Given the description of an element on the screen output the (x, y) to click on. 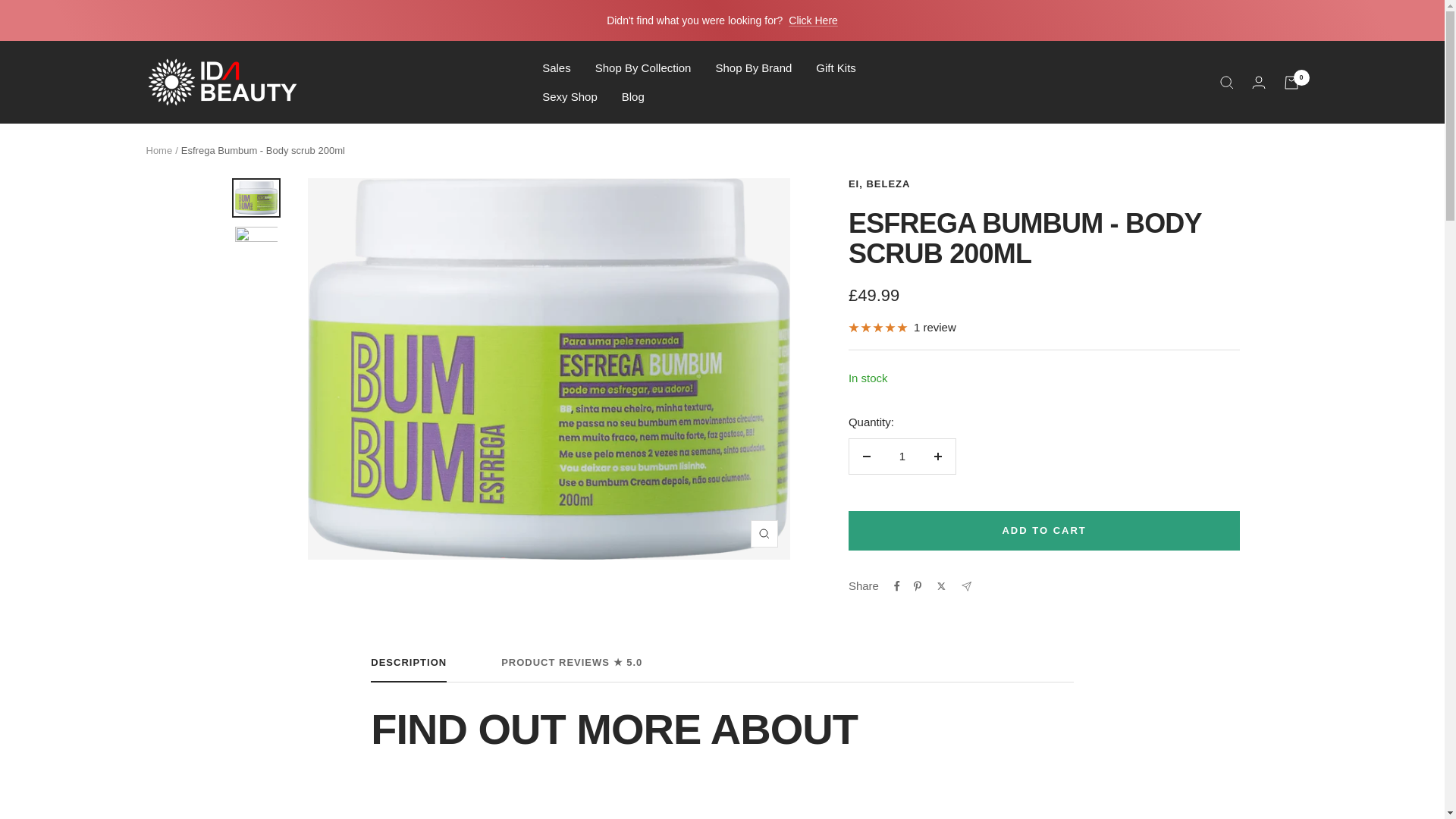
EI, BELEZA (879, 183)
Zoom (764, 533)
Decrease quantity (865, 456)
pressione TAB para descobrir mais sobre (722, 762)
0 (1291, 82)
ADD TO CART (1044, 530)
Sexy Shop (568, 96)
Click Here (813, 20)
Shop By Brand (753, 67)
IDA Beauty UK (221, 81)
1 review (902, 327)
Sales (555, 67)
Blog (633, 96)
Home (158, 150)
Increase quantity (937, 456)
